Given the description of an element on the screen output the (x, y) to click on. 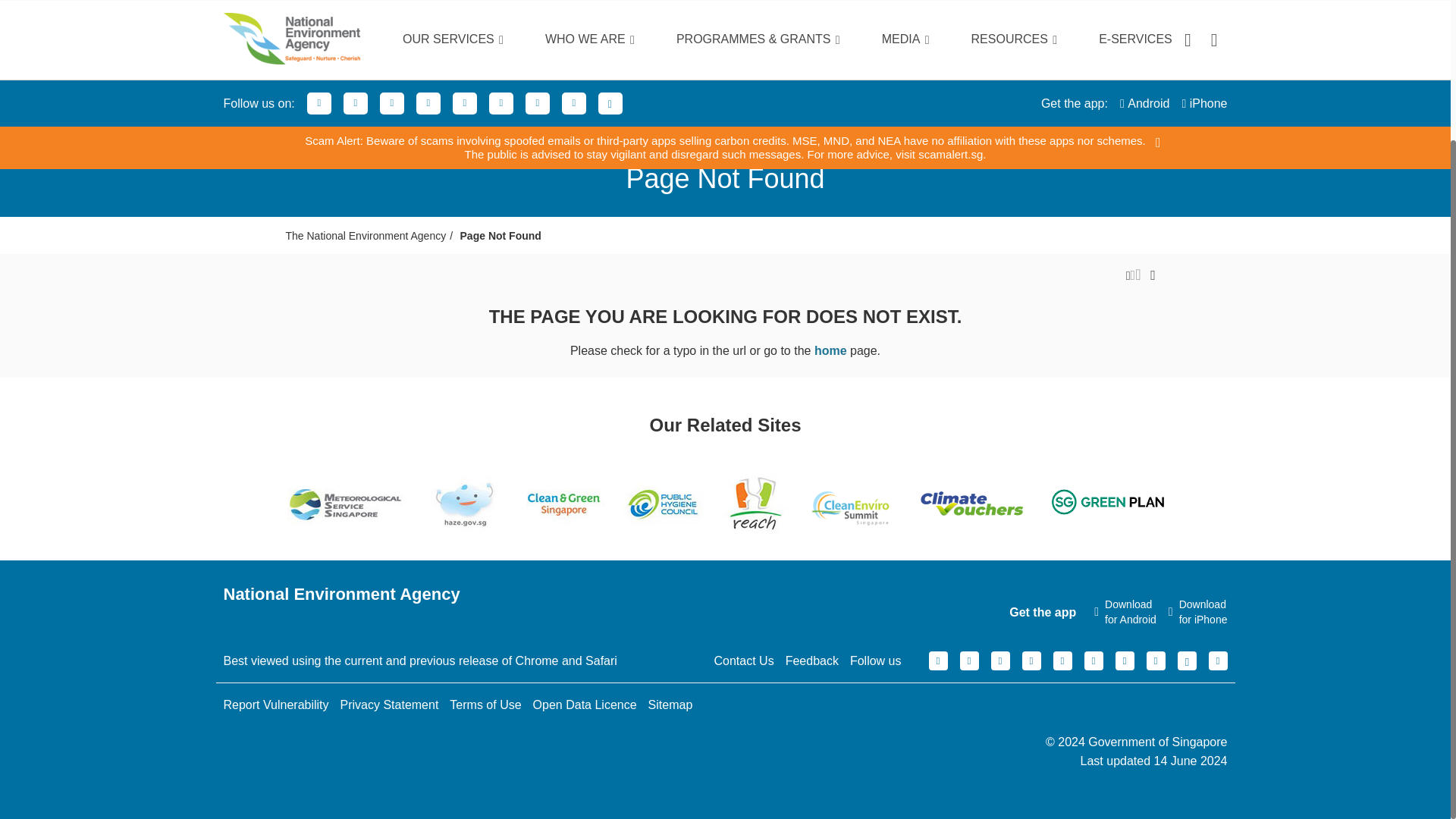
Clean Enviro Summit website (850, 507)
Meterological Service Singapore website (345, 504)
Public Hygiene Council website (664, 504)
OUR SERVICES (430, 13)
Reach website (754, 504)
MEDIA (882, 13)
WHO WE ARE (567, 13)
Haze Website (465, 504)
Climate Vouchers website (971, 504)
SG Green Plan website (1108, 504)
